Given the description of an element on the screen output the (x, y) to click on. 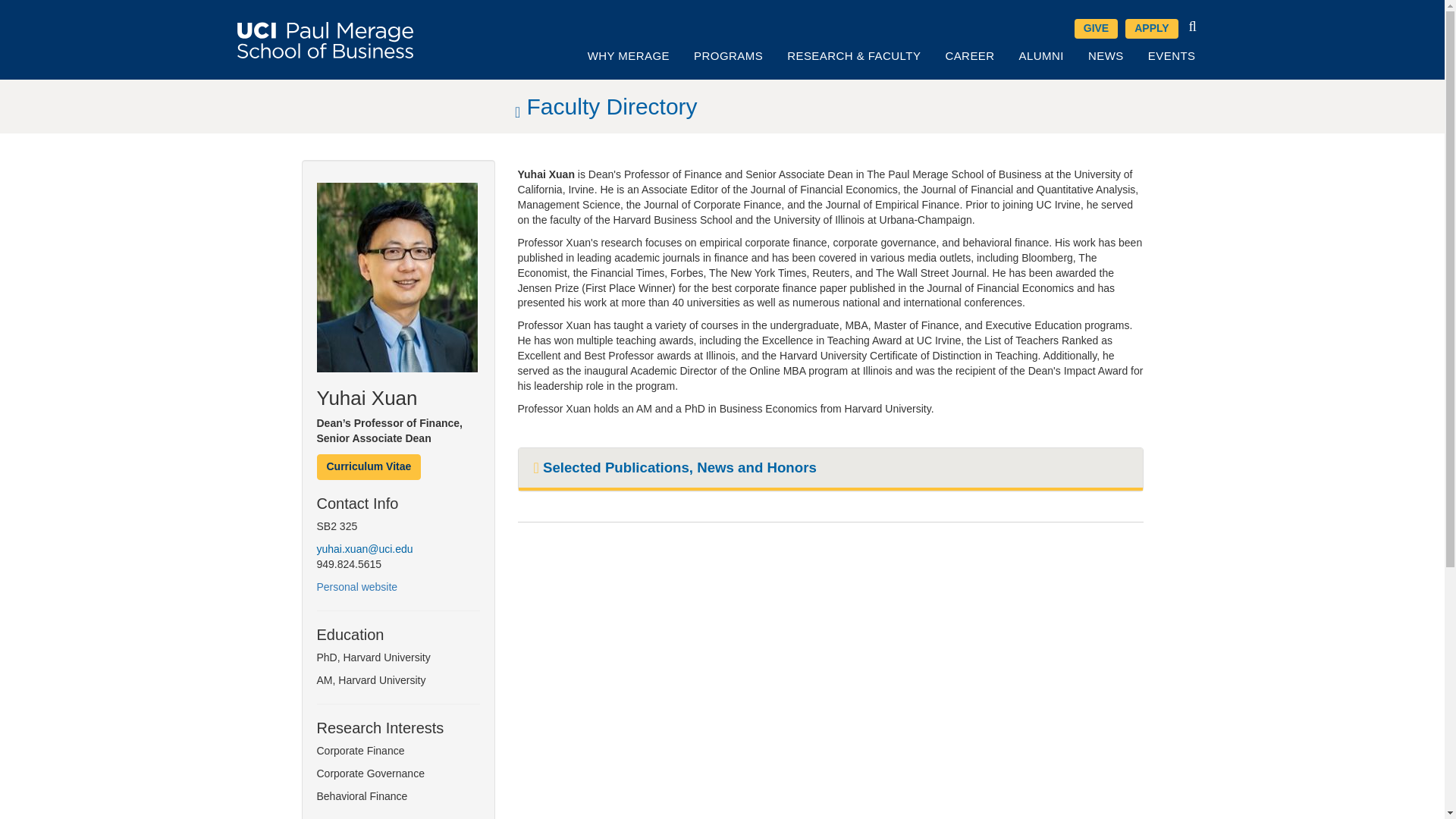
WHY MERAGE (628, 62)
GIVE (1096, 28)
Yuhai Xuan personal website (360, 586)
Email Yuhai Xuan (368, 548)
APPLY (1151, 28)
PROGRAMS (727, 62)
Apply (1151, 28)
Yuhai Xuan CV (369, 466)
